Given the description of an element on the screen output the (x, y) to click on. 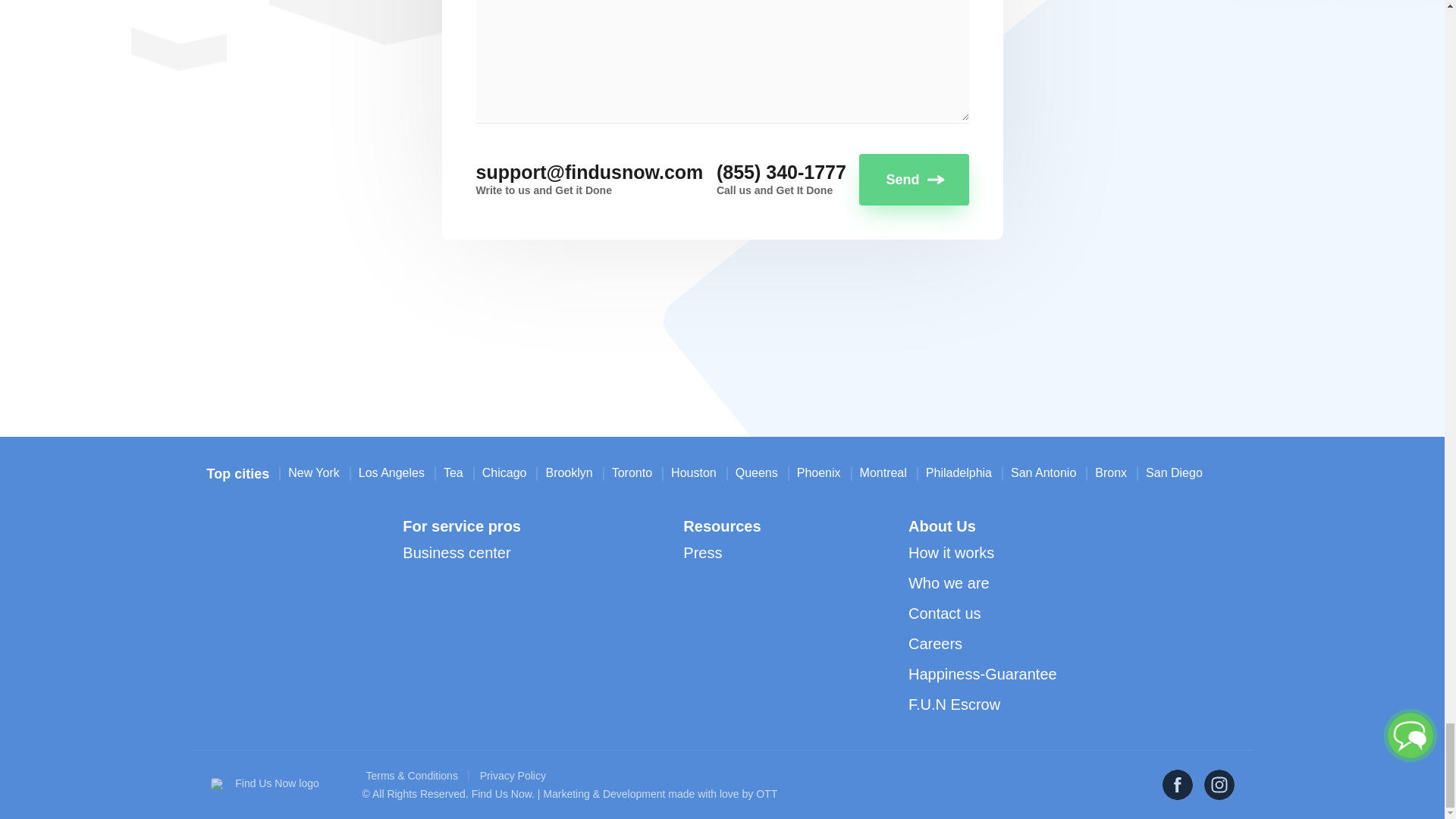
Los Angeles (391, 472)
Send (913, 179)
Tea (453, 472)
Chicago (504, 472)
New York (313, 472)
